Given the description of an element on the screen output the (x, y) to click on. 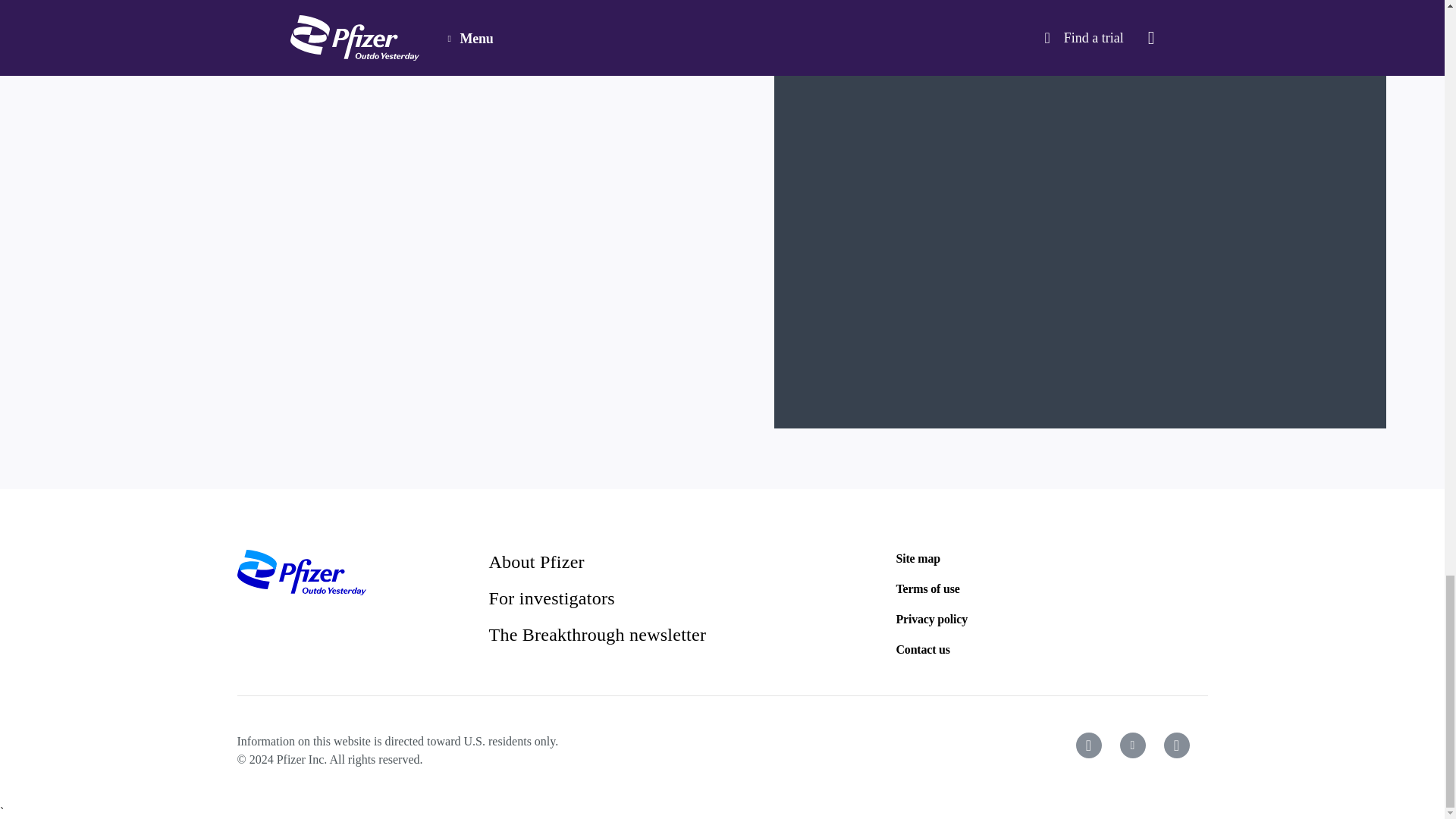
Privacy policy (932, 618)
Terms of use (927, 588)
About Pfizer (535, 561)
For investigators (550, 598)
Contact us (923, 649)
The Breakthrough newsletter (596, 634)
Site map (918, 558)
